Given the description of an element on the screen output the (x, y) to click on. 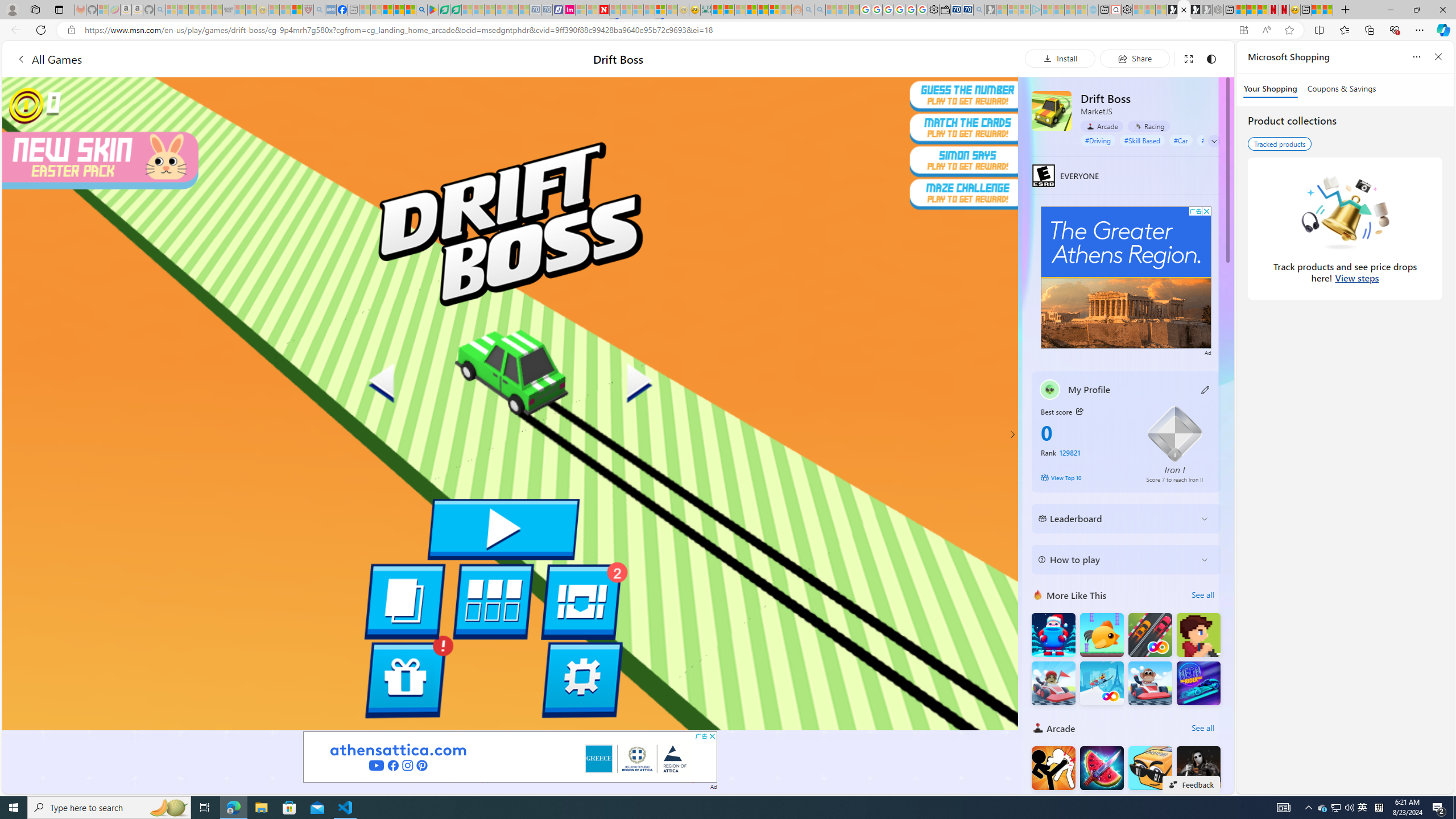
Pets - MSN (398, 9)
#Driving (1097, 140)
Bing Real Estate - Home sales and rental listings - Sleeping (979, 9)
Tab actions menu (58, 9)
MSNBC - MSN - Sleeping (364, 9)
Neon Rider (1198, 683)
Play Drift Boss in your browser | Games from Microsoft Start (1183, 9)
Class: control (1214, 140)
App bar (728, 29)
